Given the description of an element on the screen output the (x, y) to click on. 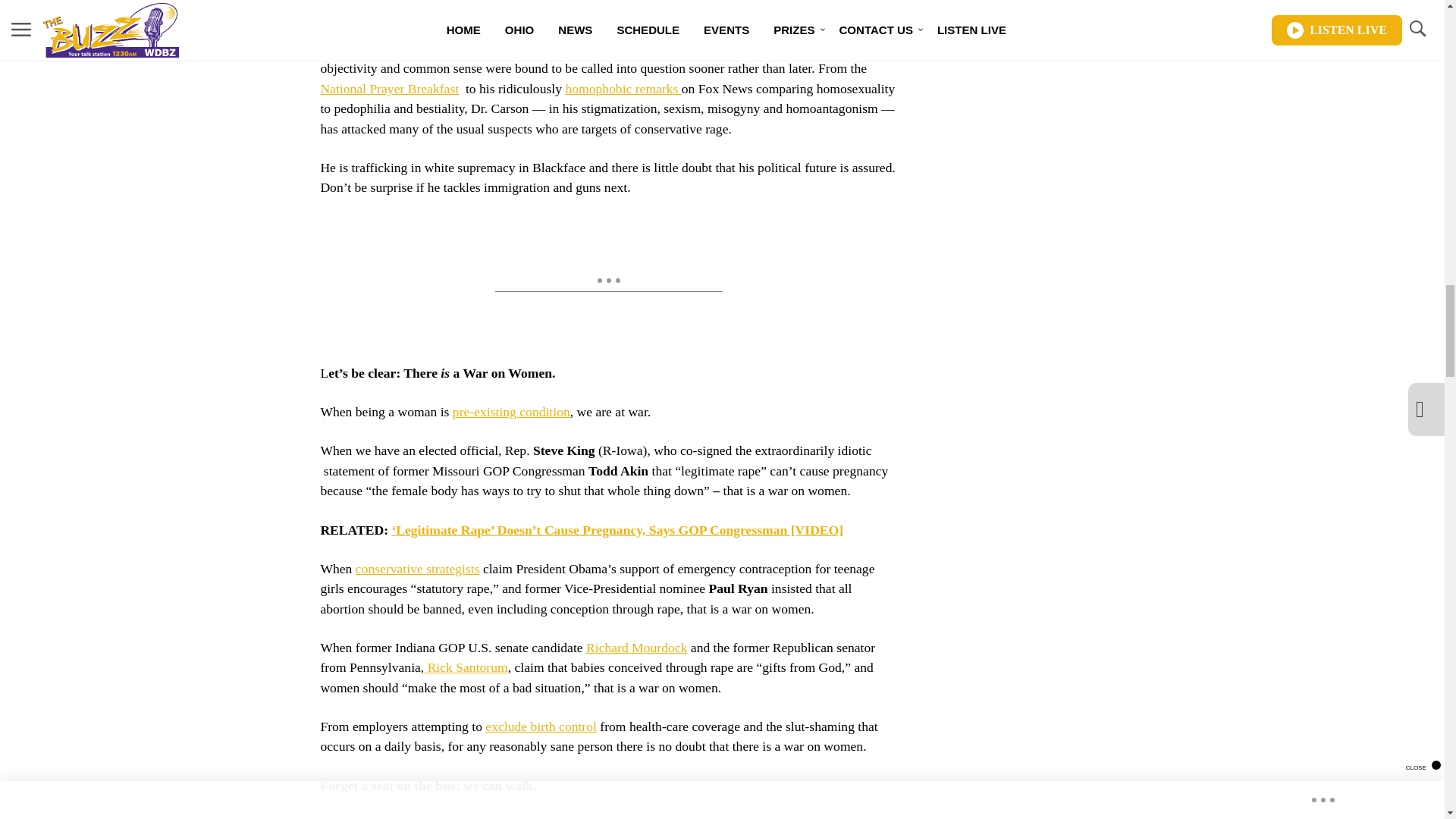
National Prayer Breakfast (389, 88)
conservative strategists (417, 568)
homophobic remarks (622, 88)
pre-existing condition (511, 411)
